Given the description of an element on the screen output the (x, y) to click on. 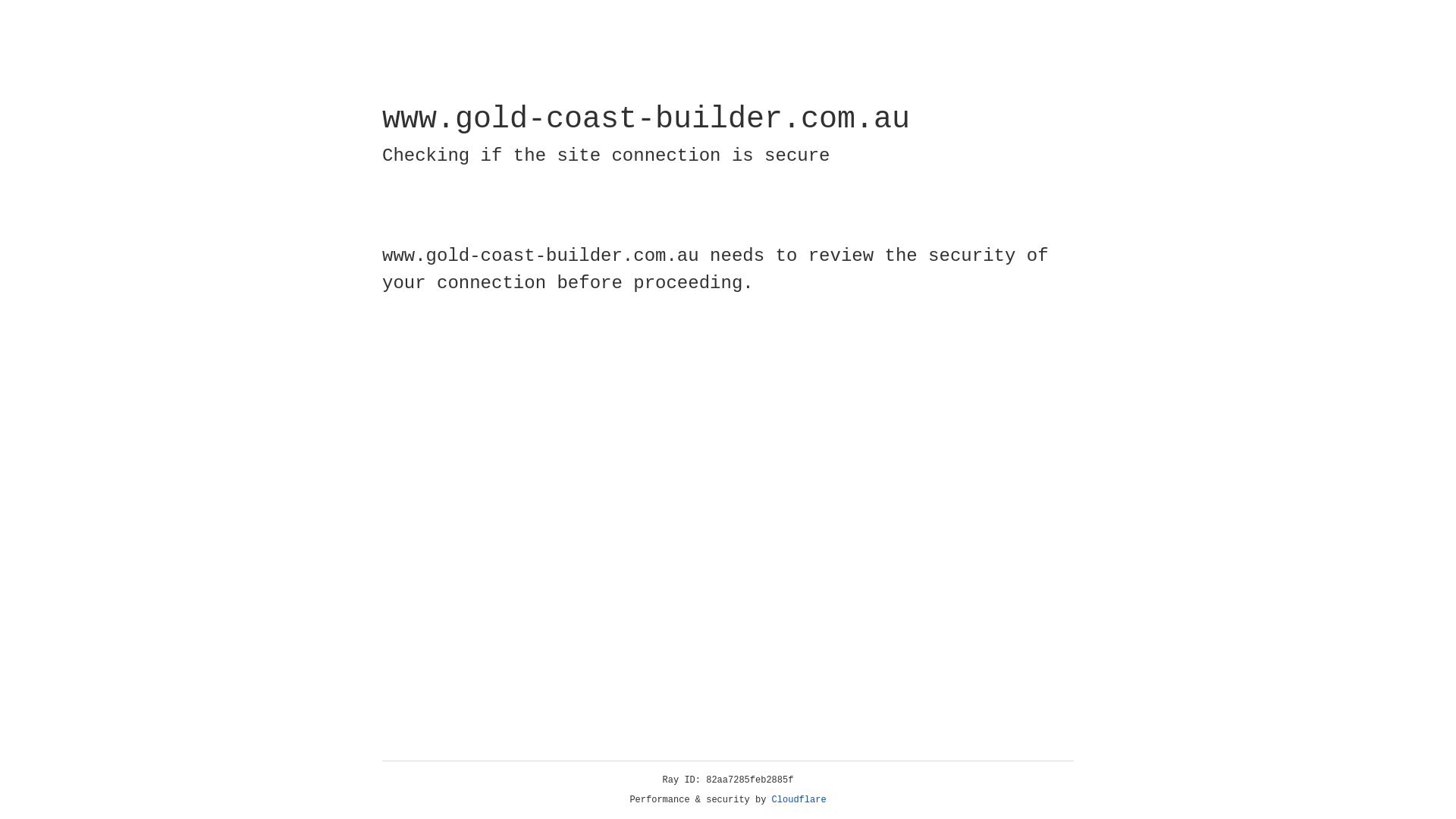
Cloudflare Element type: text (798, 799)
